Given the description of an element on the screen output the (x, y) to click on. 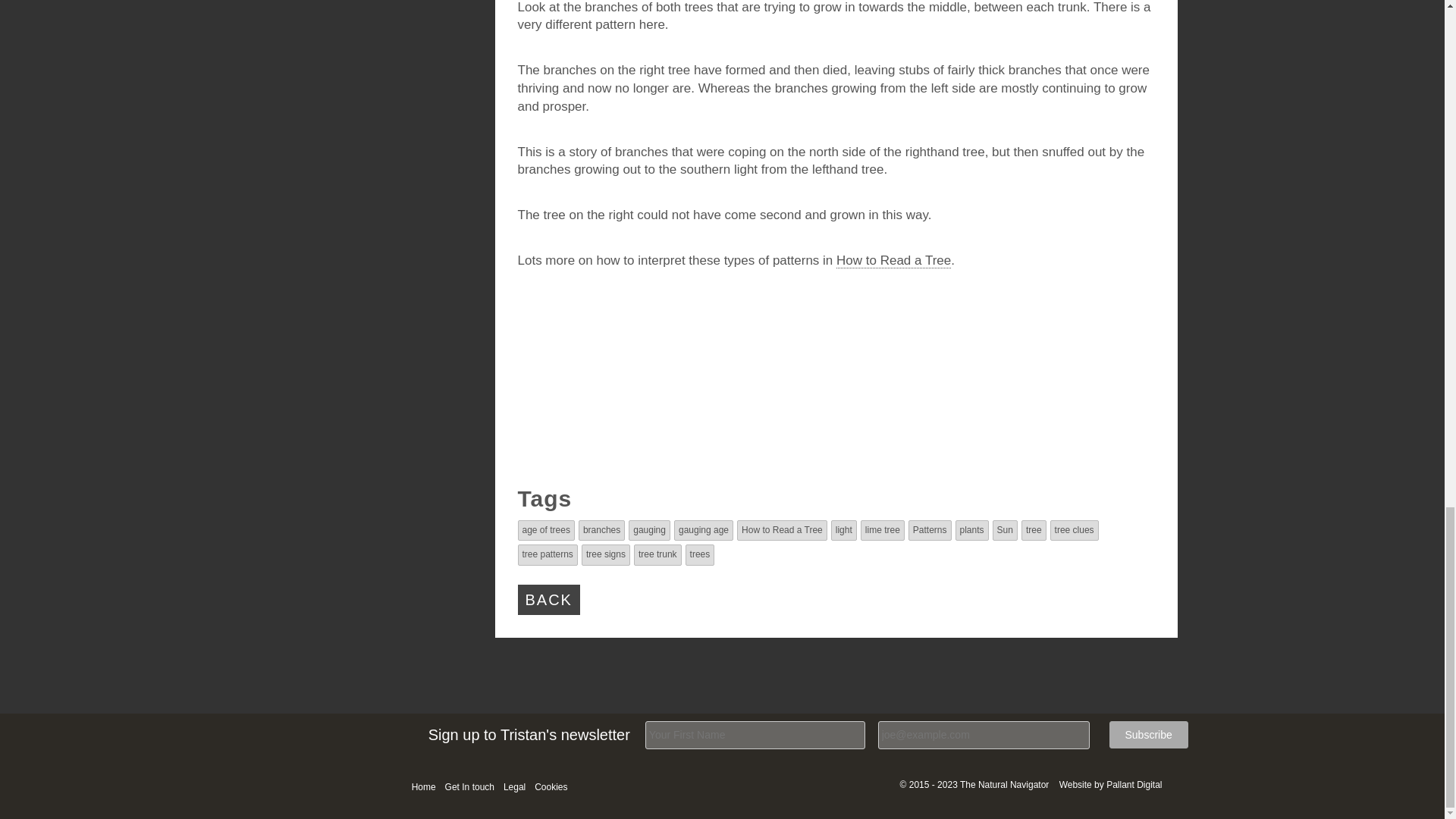
Patterns (929, 529)
gauging (649, 529)
age of trees (545, 529)
plants (971, 529)
Subscribe (1148, 734)
How to Read a Tree (892, 260)
lime tree (881, 529)
gauging age (703, 529)
light (843, 529)
tree (1034, 529)
Sun (1005, 529)
How to Read a Tree (781, 529)
tree clues (1074, 529)
tree patterns (546, 553)
branches (601, 529)
